Given the description of an element on the screen output the (x, y) to click on. 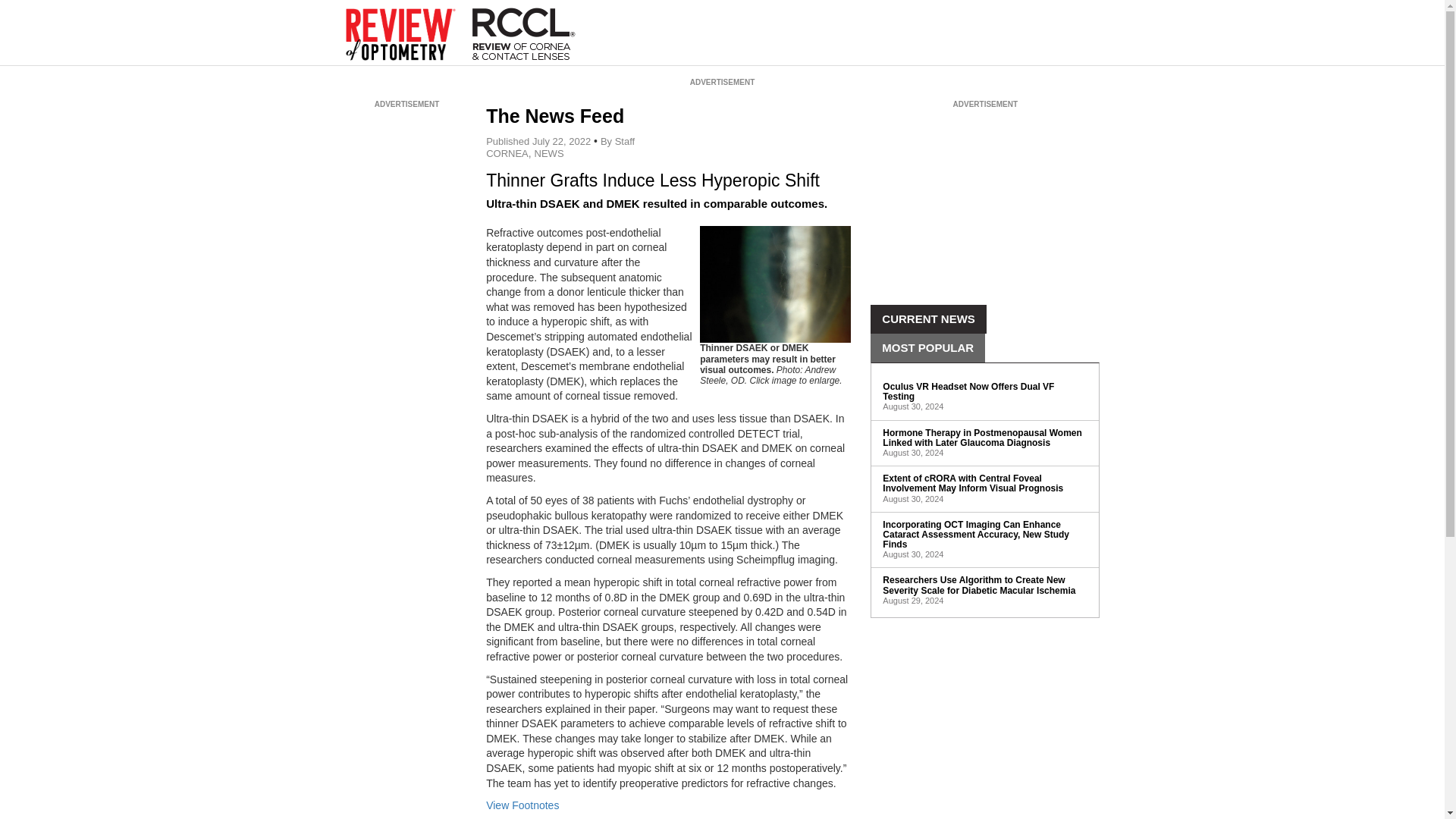
NEWS (549, 153)
CORNEA (507, 153)
Oculus VR Headset Now Offers Dual VF Testing (968, 391)
The News Feed (555, 115)
CURRENT NEWS (928, 318)
View Footnotes (522, 805)
MOST POPULAR (927, 347)
